Given the description of an element on the screen output the (x, y) to click on. 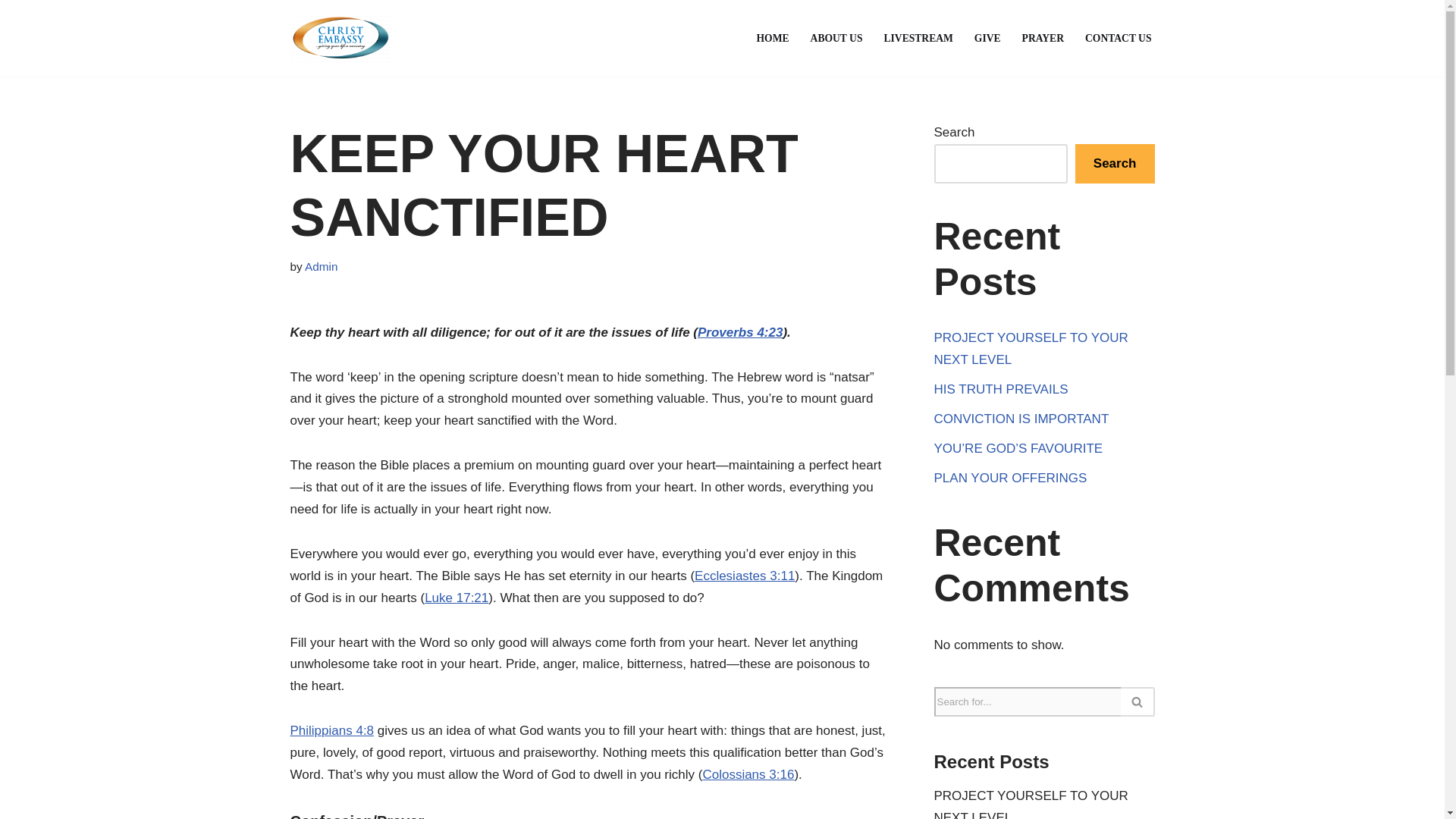
LIVESTREAM (917, 37)
ABOUT US (836, 37)
Search (1114, 164)
Admin (320, 266)
Proverbs 4:23 (740, 332)
Ecclesiastes 3:11 (744, 575)
Philippians 4:8 (331, 730)
HIS TRUTH PREVAILS (1001, 389)
Luke 17:21 (456, 597)
PROJECT YOURSELF TO YOUR NEXT LEVEL (1031, 348)
HOME (773, 37)
Colossians 3:16 (747, 774)
PROJECT YOURSELF TO YOUR NEXT LEVEL (1031, 803)
Posts by Admin (320, 266)
PRAYER (1043, 37)
